Given the description of an element on the screen output the (x, y) to click on. 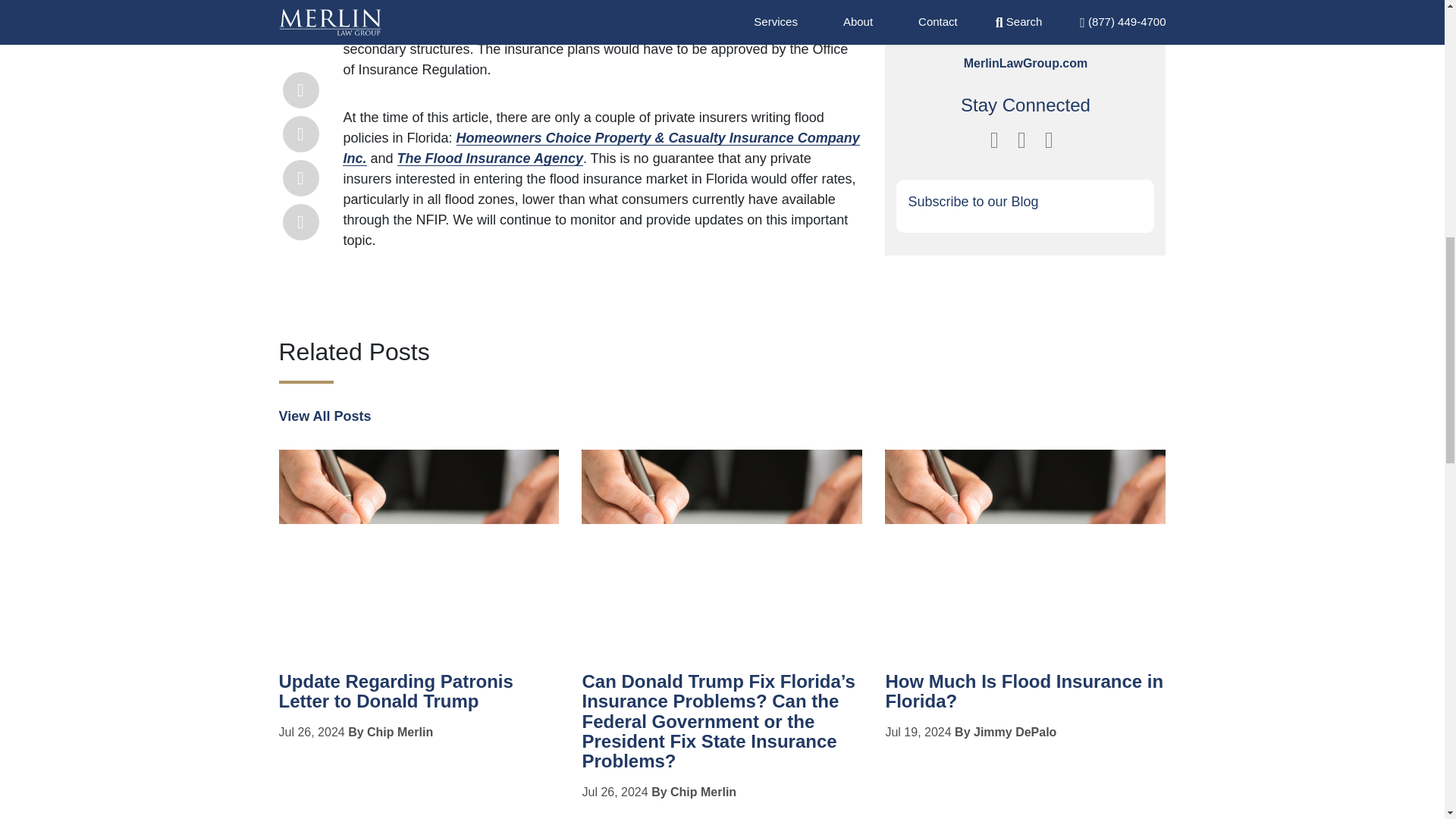
The Flood Insurance Agency (490, 135)
By Chip Merlin (693, 768)
How Much Is Flood Insurance in Florida? (1024, 668)
View All Posts (325, 393)
By Chip Merlin (389, 708)
Update Regarding Patronis Letter to Donald Trump (396, 668)
